Given the description of an element on the screen output the (x, y) to click on. 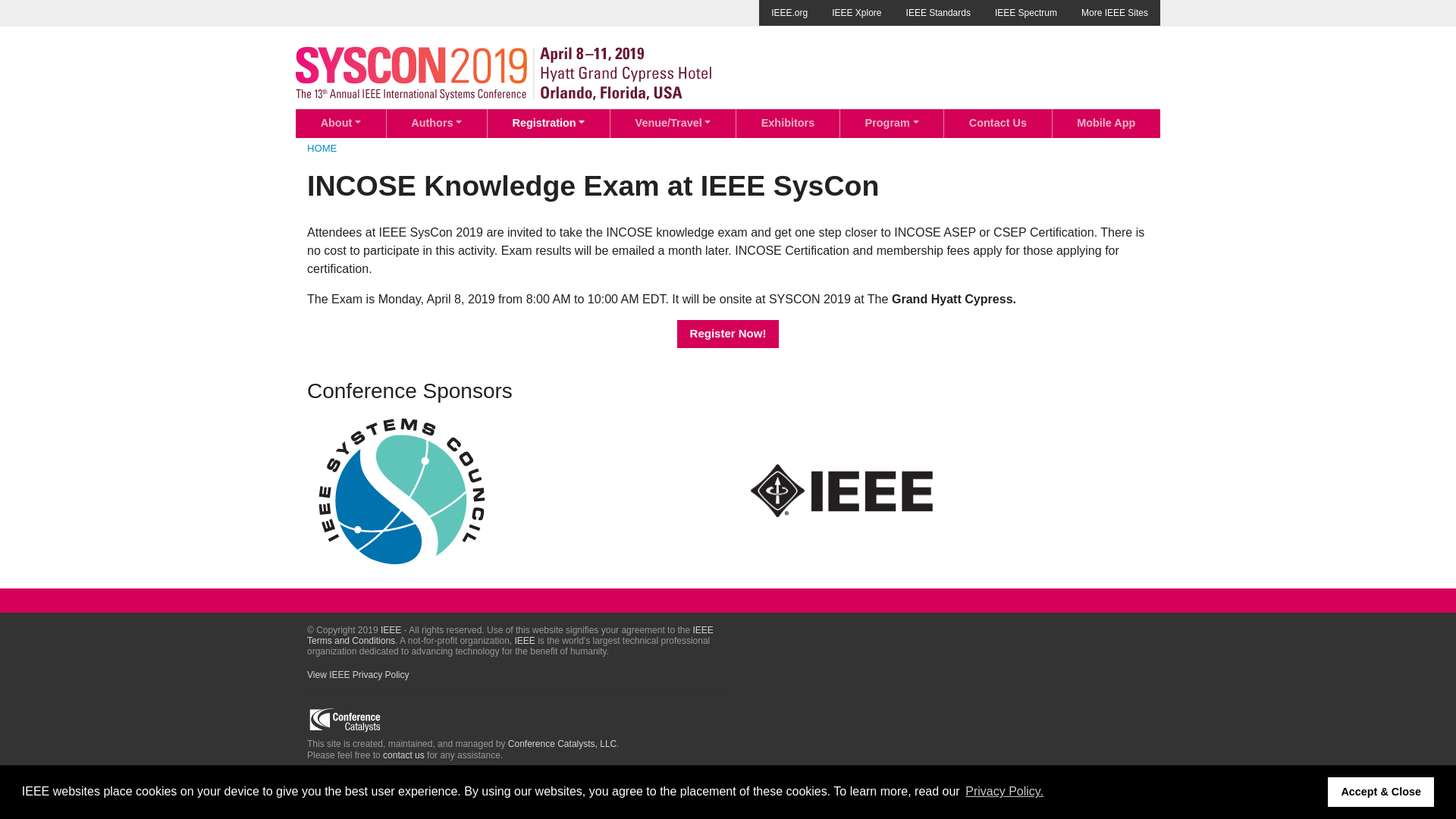
Exhibitors (788, 123)
IEEE Standards (937, 12)
Mobile App (1106, 123)
Home (504, 72)
IEEE.org (788, 12)
Authors (436, 123)
IEEE.org website (788, 12)
Registration (548, 123)
IEEE Terms and Conditions (510, 635)
IEEE Spectrum website (1025, 12)
IEEE Xplore website (856, 12)
More IEEE Sites (1114, 12)
Program (891, 123)
IEEE Xplore (856, 12)
About (340, 123)
